Given the description of an element on the screen output the (x, y) to click on. 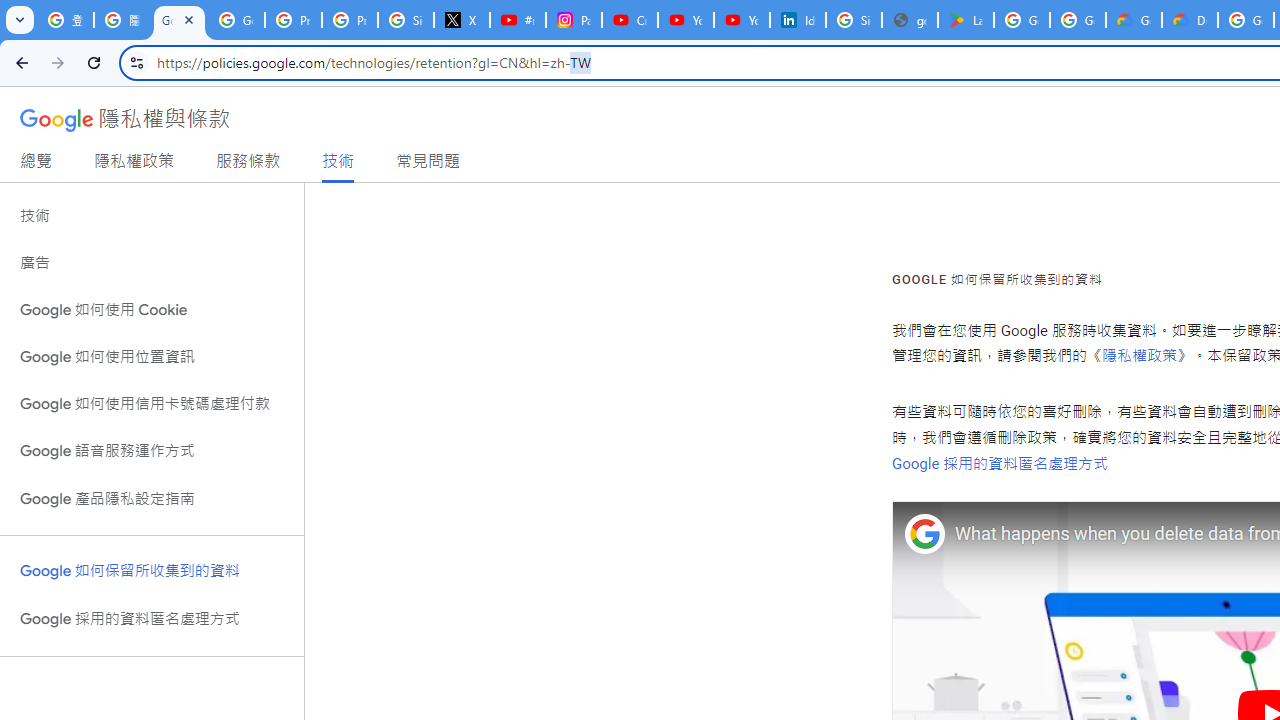
Identity verification via Persona | LinkedIn Help (797, 20)
Forward (57, 62)
X (461, 20)
google_privacy_policy_en.pdf (909, 20)
Close (189, 19)
Government | Google Cloud (1133, 20)
Sign in - Google Accounts (405, 20)
Google Workspace - Specific Terms (1077, 20)
Search tabs (20, 20)
View site information (136, 62)
